Given the description of an element on the screen output the (x, y) to click on. 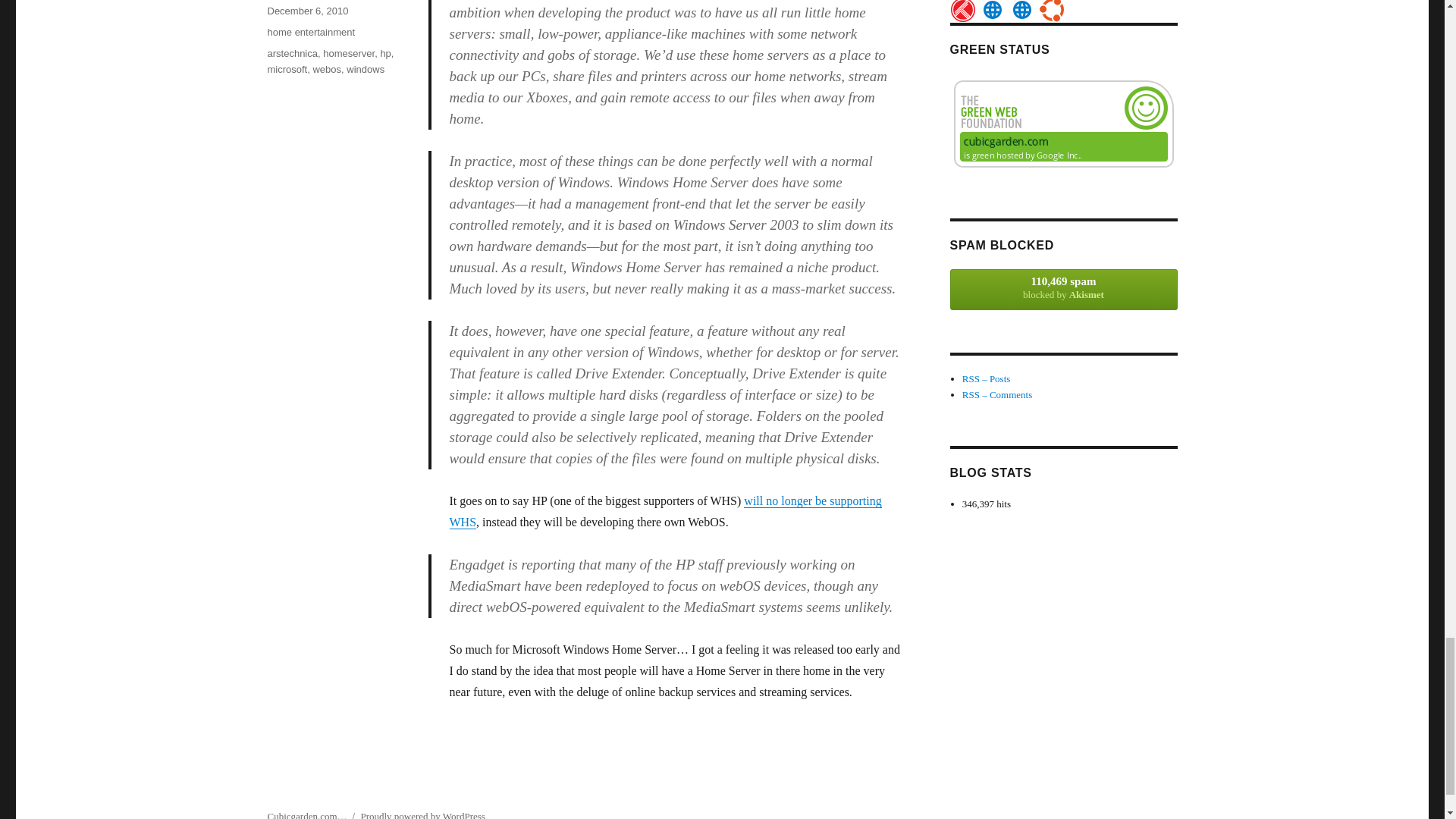
will no longer be supporting WHS (664, 511)
Trakt (962, 11)
Ubuntu (1050, 11)
